Given the description of an element on the screen output the (x, y) to click on. 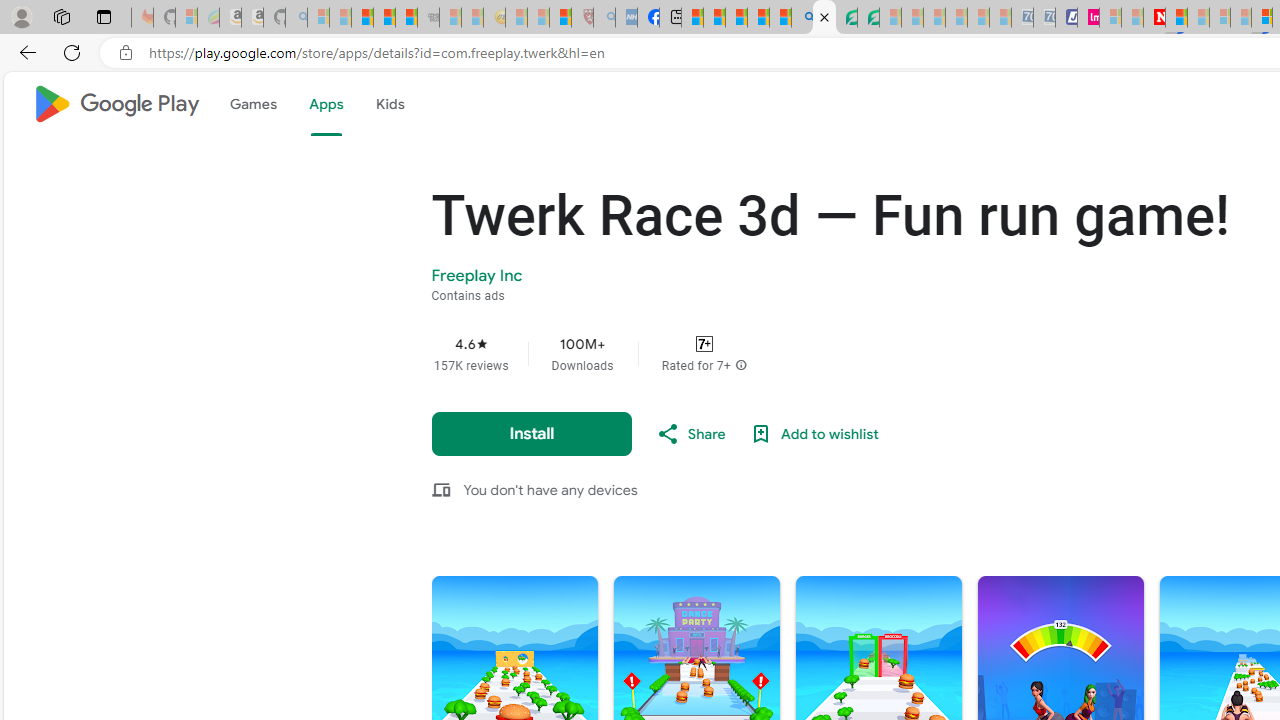
More info about this content rating (740, 365)
Robert H. Shmerling, MD - Harvard Health - Sleeping (582, 17)
Microsoft-Report a Concern to Bing - Sleeping (186, 17)
Cheap Hotels - Save70.com - Sleeping (1044, 17)
Share (689, 433)
Apps (325, 104)
Local - MSN (560, 17)
Cheap Car Rentals - Save70.com - Sleeping (1022, 17)
Freeplay Inc (477, 275)
google - Search (802, 17)
